Given the description of an element on the screen output the (x, y) to click on. 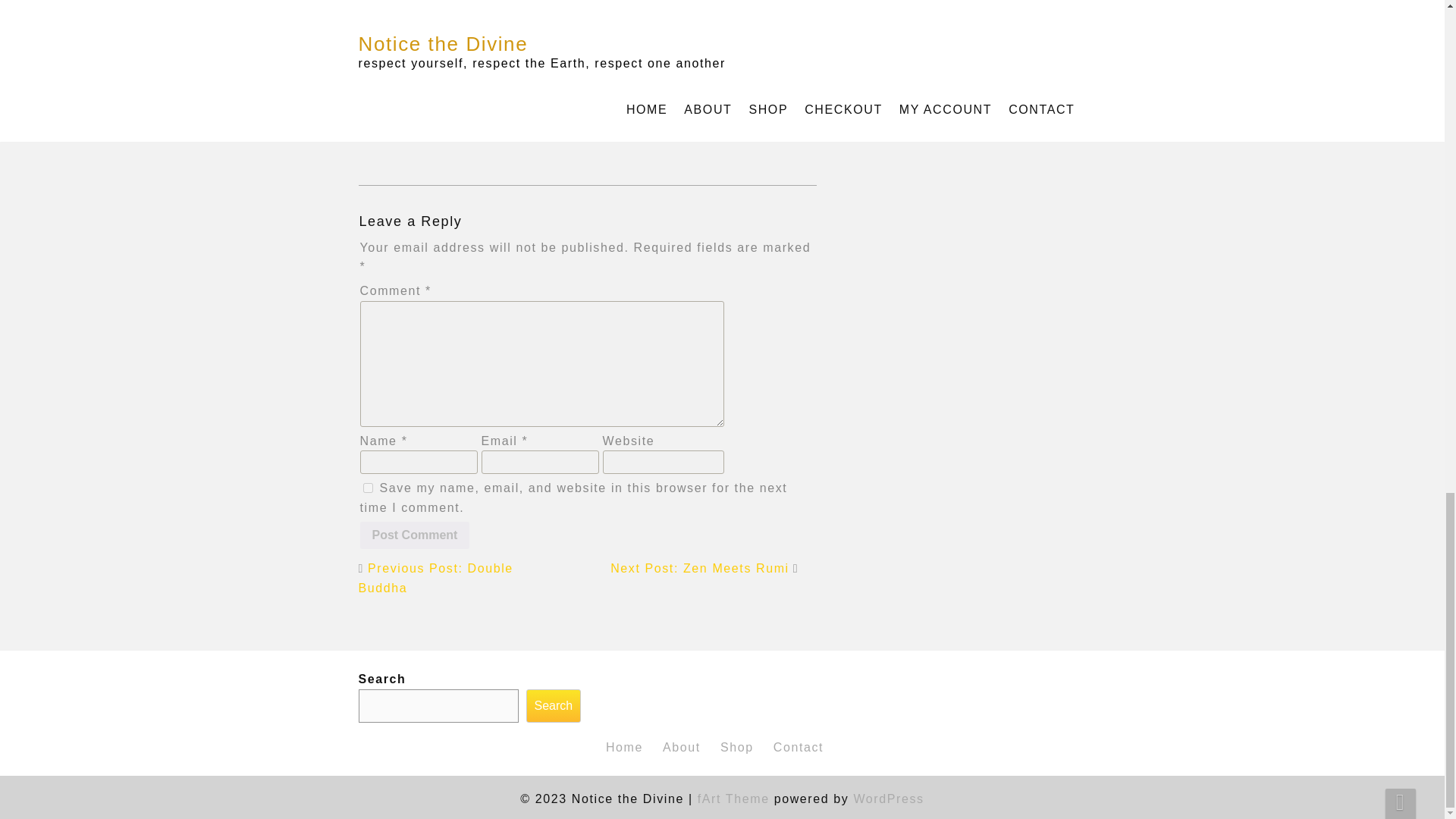
fArt Theme (733, 798)
Post Comment (413, 534)
About (681, 747)
WordPress (888, 798)
yes (367, 488)
Add to cart (763, 61)
Home (624, 747)
Contact (798, 747)
Shop (737, 747)
Add to cart (408, 62)
Next Post: Zen Meets Rumi (699, 567)
Search (552, 705)
Add to cart (527, 80)
fart Theme (733, 798)
Previous Post: Double Buddha (435, 577)
